Given the description of an element on the screen output the (x, y) to click on. 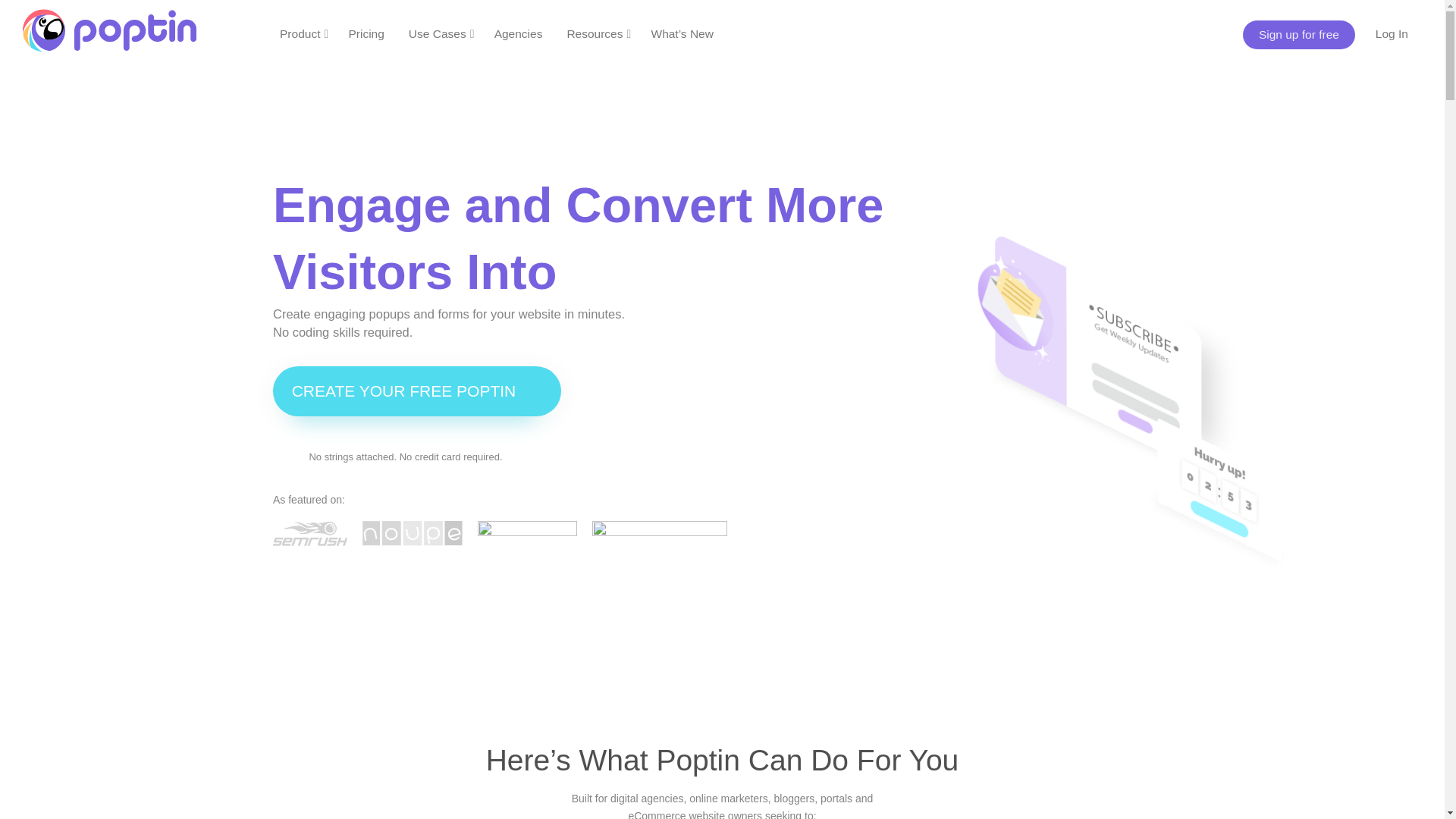
Sign up for free (1299, 34)
Resources (597, 33)
CREATE YOUR FREE POPTIN (416, 391)
Pricing (365, 33)
Agencies (518, 33)
Log In (1391, 33)
Product (303, 33)
Use Cases (440, 33)
